Given the description of an element on the screen output the (x, y) to click on. 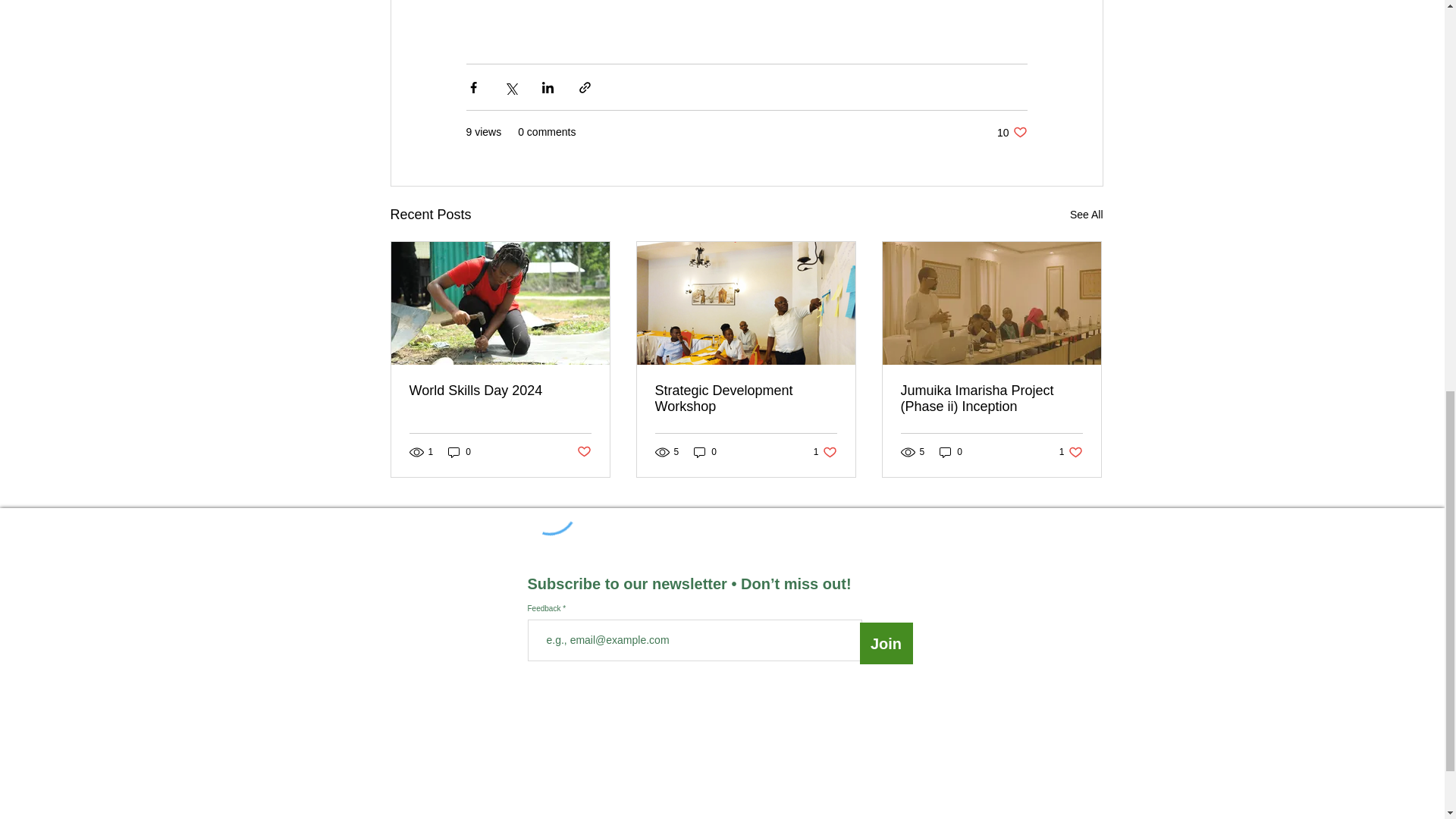
World Skills Day 2024 (500, 390)
Join (886, 643)
Strategic Development Workshop (746, 398)
Post not marked as liked (583, 452)
0 (1071, 451)
See All (950, 451)
0 (1086, 214)
0 (458, 451)
